Given the description of an element on the screen output the (x, y) to click on. 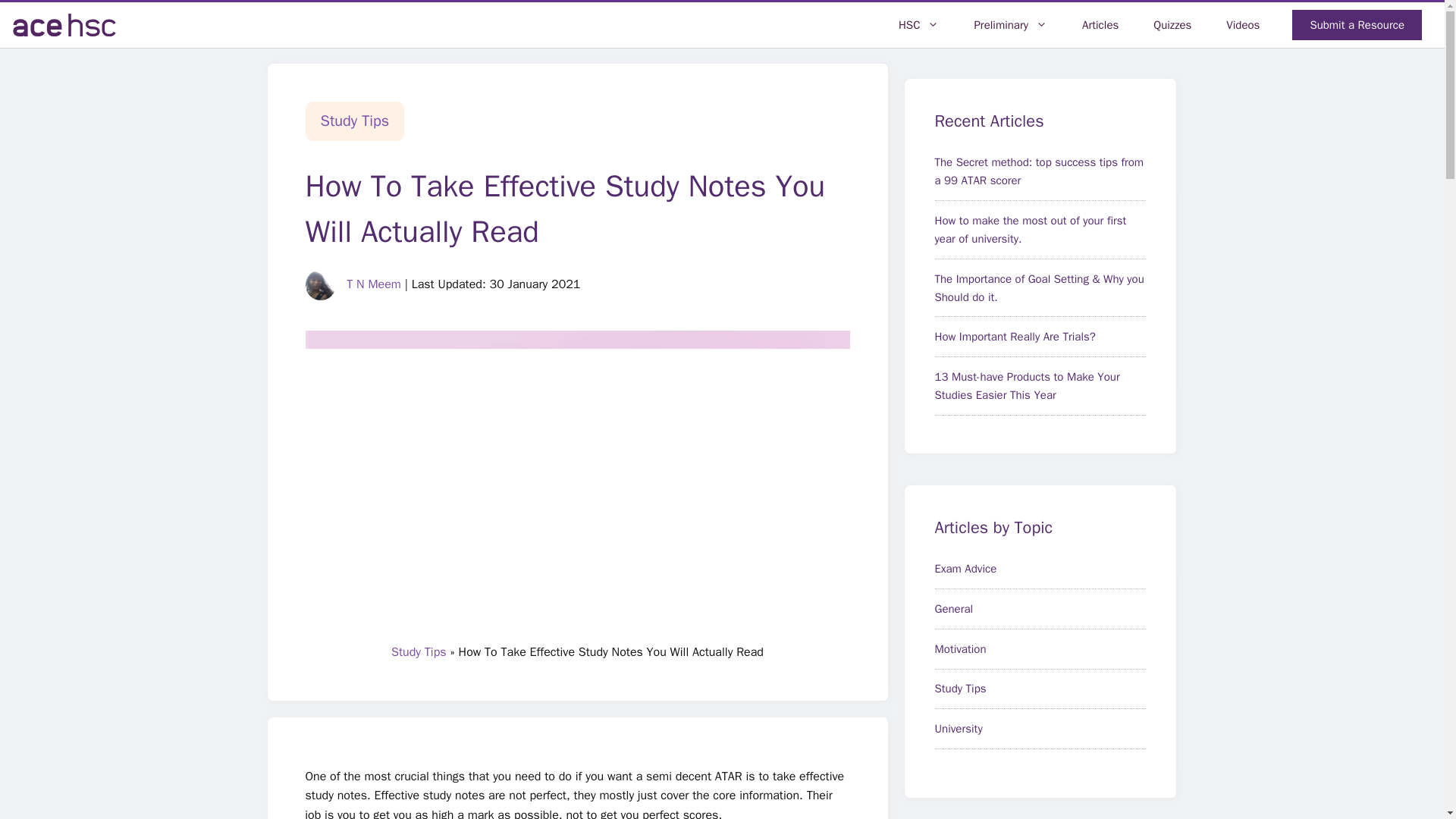
Videos (1242, 24)
AceHSC (63, 24)
Submit a Resource (1357, 24)
Preliminary (1010, 24)
T N Meem (373, 283)
Study Tips (354, 120)
HSC (918, 24)
Articles (1099, 24)
How to make the most out of your first year of university. (1029, 229)
The Secret method: top success tips from a 99 ATAR scorer (1038, 171)
